Given the description of an element on the screen output the (x, y) to click on. 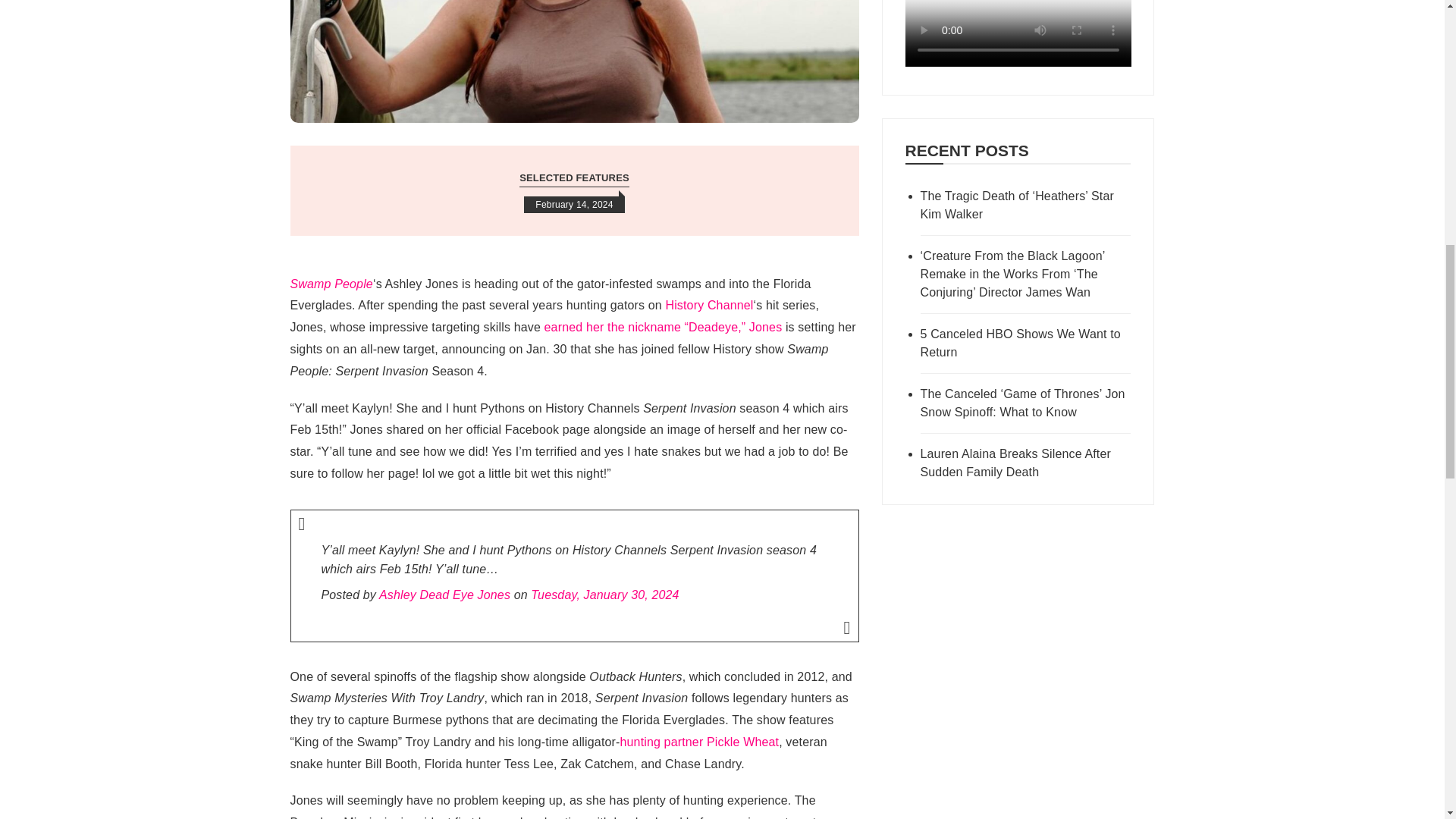
History Channel (708, 305)
Ashley Dead Eye Jones (444, 594)
hunting partner Pickle Wheat (699, 741)
SELECTED FEATURES (573, 178)
5 Canceled HBO Shows We Want to Return (1025, 343)
Swamp People (330, 283)
Tuesday, January 30, 2024 (604, 594)
Follow on Facebook (1018, 62)
February 14, 2024 (574, 204)
